Given the description of an element on the screen output the (x, y) to click on. 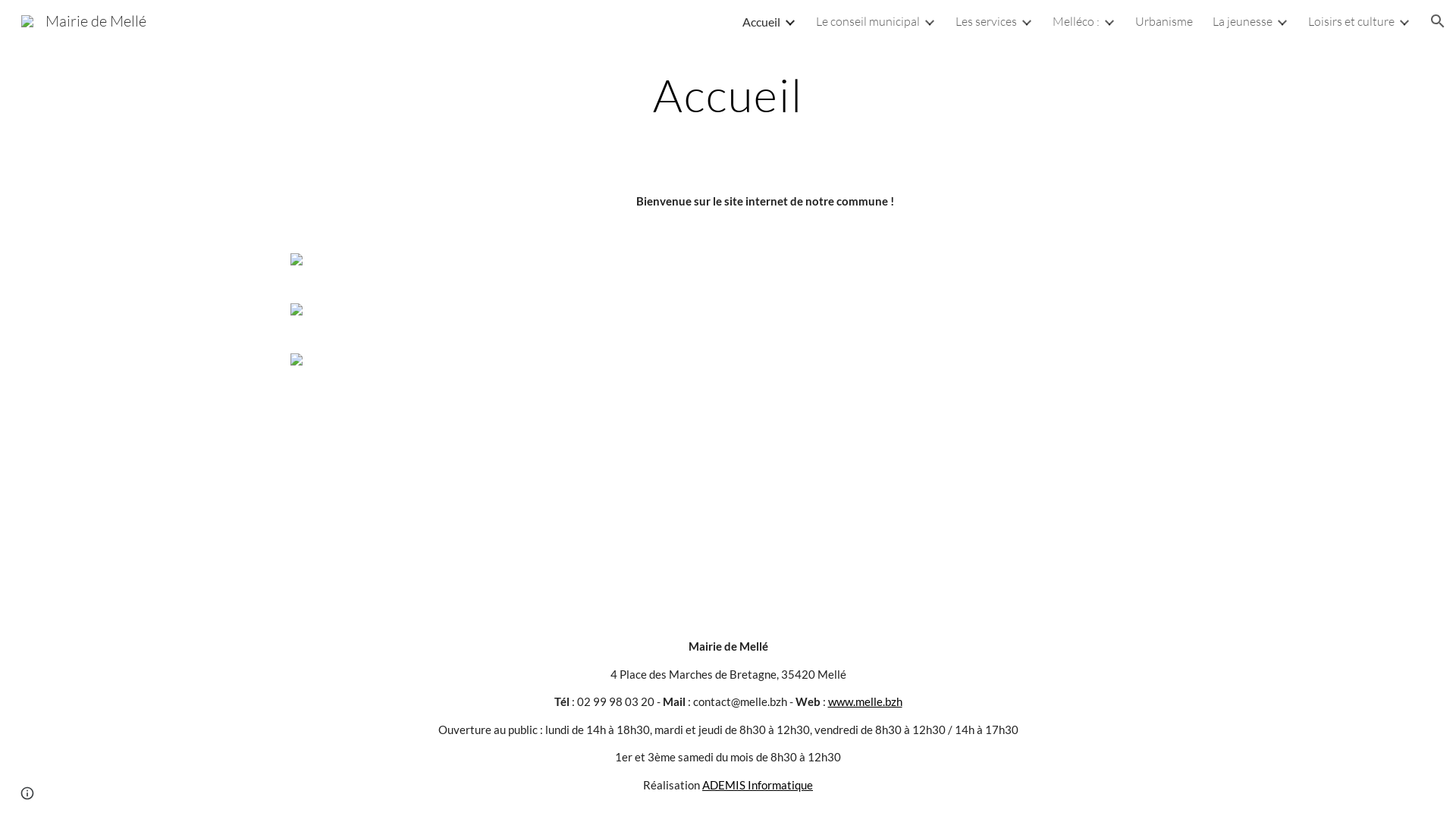
Expand/Collapse Element type: hover (1025, 20)
Loisirs et culture Element type: text (1351, 20)
Expand/Collapse Element type: hover (1403, 20)
Expand/Collapse Element type: hover (789, 20)
Expand/Collapse Element type: hover (928, 20)
www.melle.bzh Element type: text (865, 701)
ADEMIS Informatique Element type: text (757, 784)
Accueil Element type: text (761, 20)
Expand/Collapse Element type: hover (1281, 20)
La jeunesse Element type: text (1242, 20)
Les services Element type: text (985, 20)
Urbanisme Element type: text (1163, 20)
Le conseil municipal Element type: text (867, 20)
Expand/Collapse Element type: hover (1108, 20)
